Given the description of an element on the screen output the (x, y) to click on. 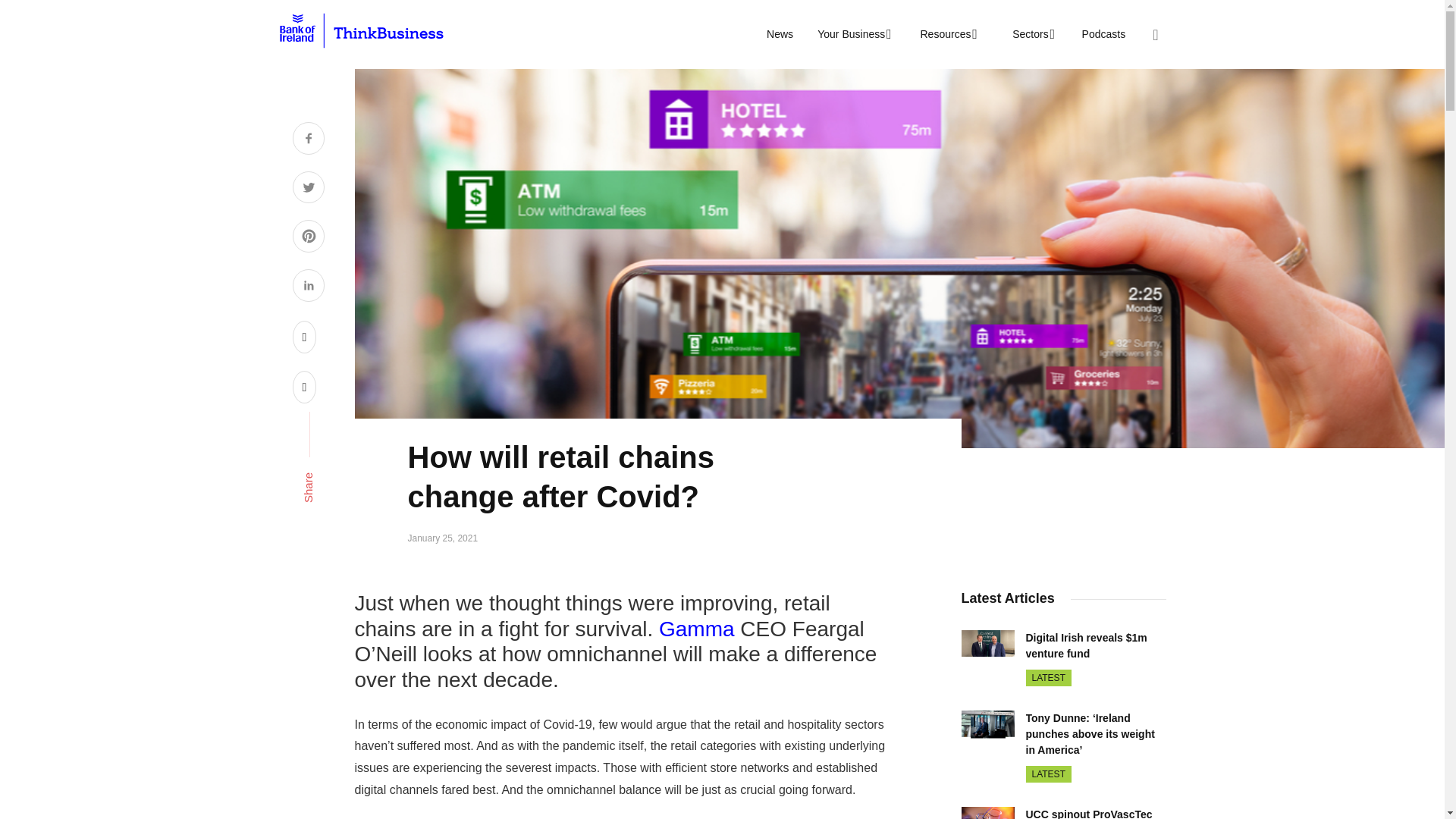
Share on Twitter (308, 189)
Share on Linkedin (308, 287)
January 25, 2021 at 9:25 am (443, 538)
Share via email (304, 387)
Share on Facebook (308, 140)
Share on Reddit (304, 337)
Your Business (852, 34)
Share on Pinterest (308, 238)
Resources (946, 34)
